Given the description of an element on the screen output the (x, y) to click on. 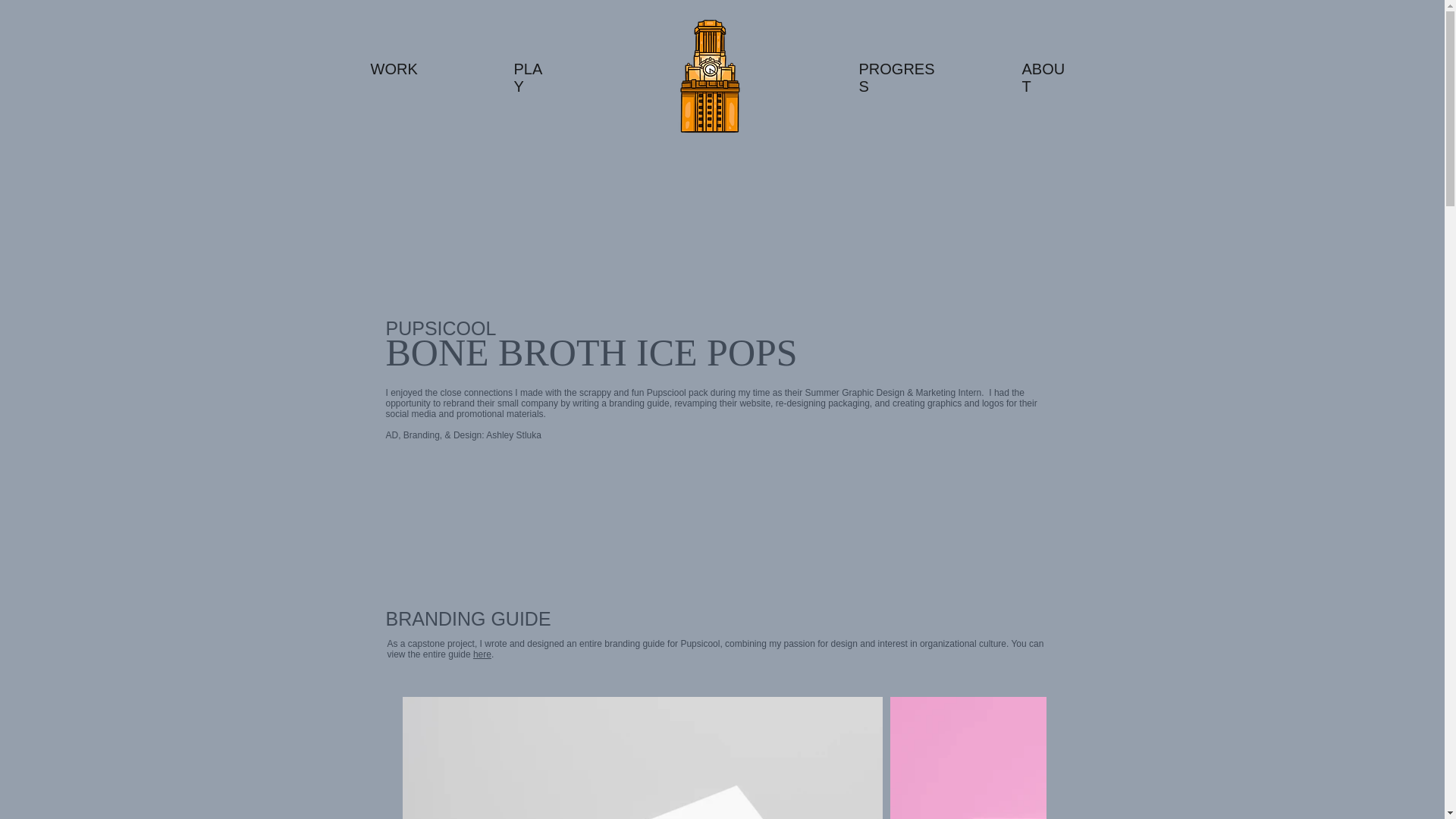
WORK (392, 68)
ABOUT (1043, 77)
PROGRESS (896, 77)
